Given the description of an element on the screen output the (x, y) to click on. 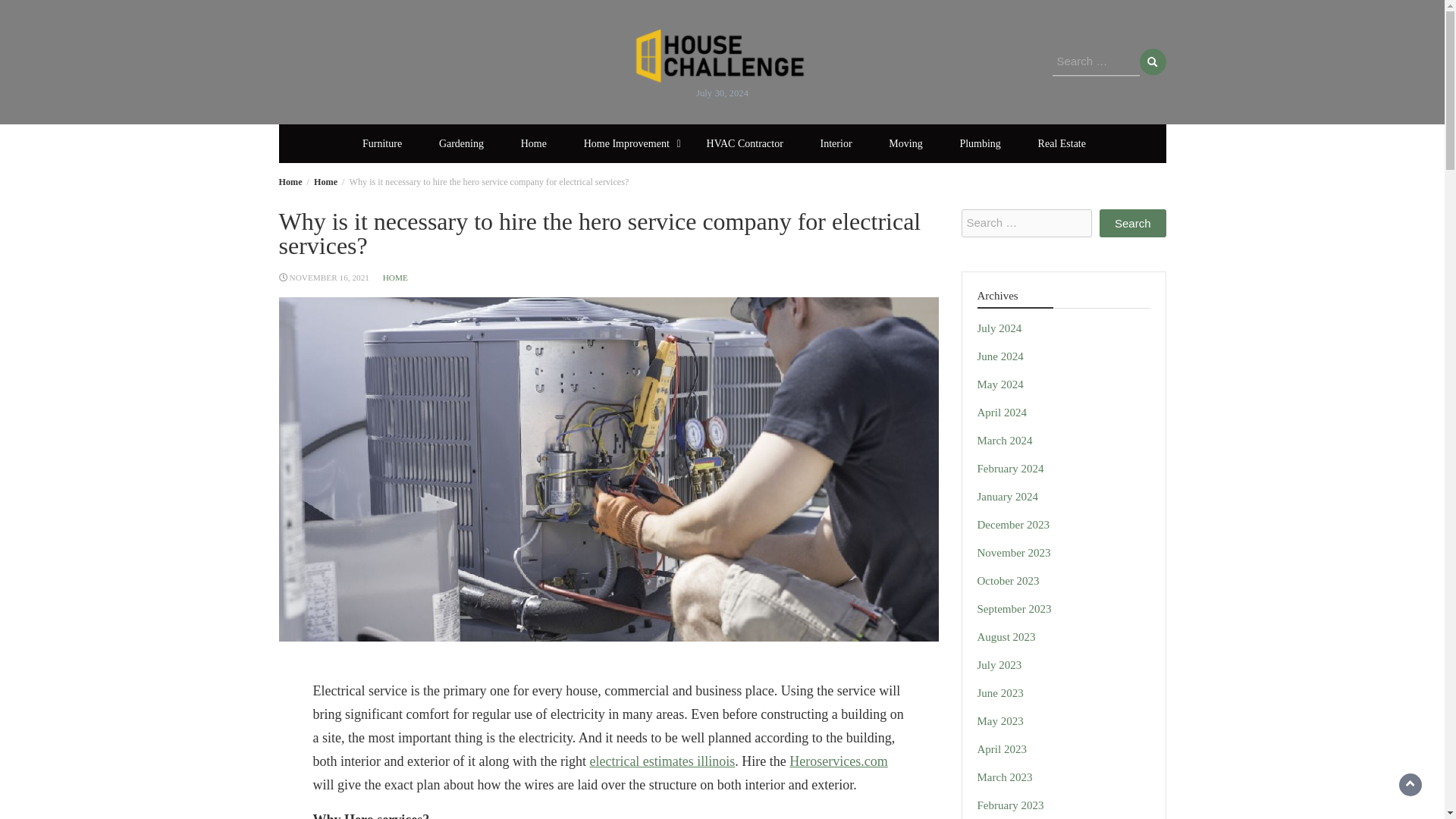
Furniture (381, 143)
Moving (905, 143)
electrical estimates illinois (662, 761)
Search (1152, 61)
Gardening (461, 143)
Home (325, 181)
Interior (836, 143)
HVAC Contractor (744, 143)
Search (1132, 223)
Plumbing (978, 143)
Search for: (1096, 62)
Home (290, 181)
HOME (394, 276)
Search (1132, 223)
Home Improvement (626, 143)
